Given the description of an element on the screen output the (x, y) to click on. 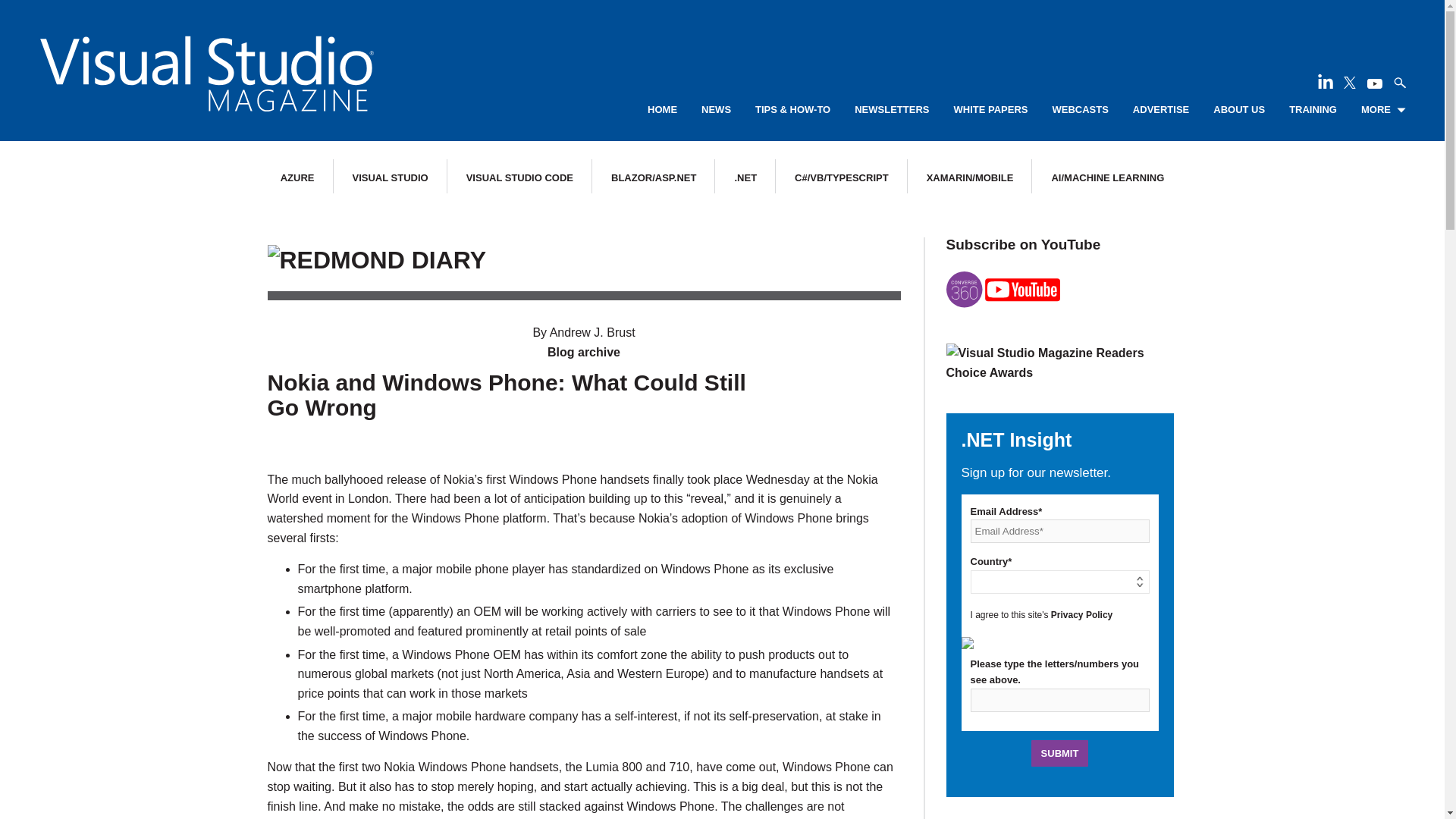
TRAINING (1312, 109)
ADVERTISE (1160, 109)
VISUAL STUDIO CODE (519, 177)
NEWSLETTERS (891, 109)
HOME (662, 109)
Submit (1059, 753)
WEBCASTS (1079, 109)
AZURE (297, 177)
.NET (745, 177)
ABOUT US (1238, 109)
NEWS (715, 109)
WHITE PAPERS (990, 109)
MORE (1383, 109)
VISUAL STUDIO (390, 177)
